Given the description of an element on the screen output the (x, y) to click on. 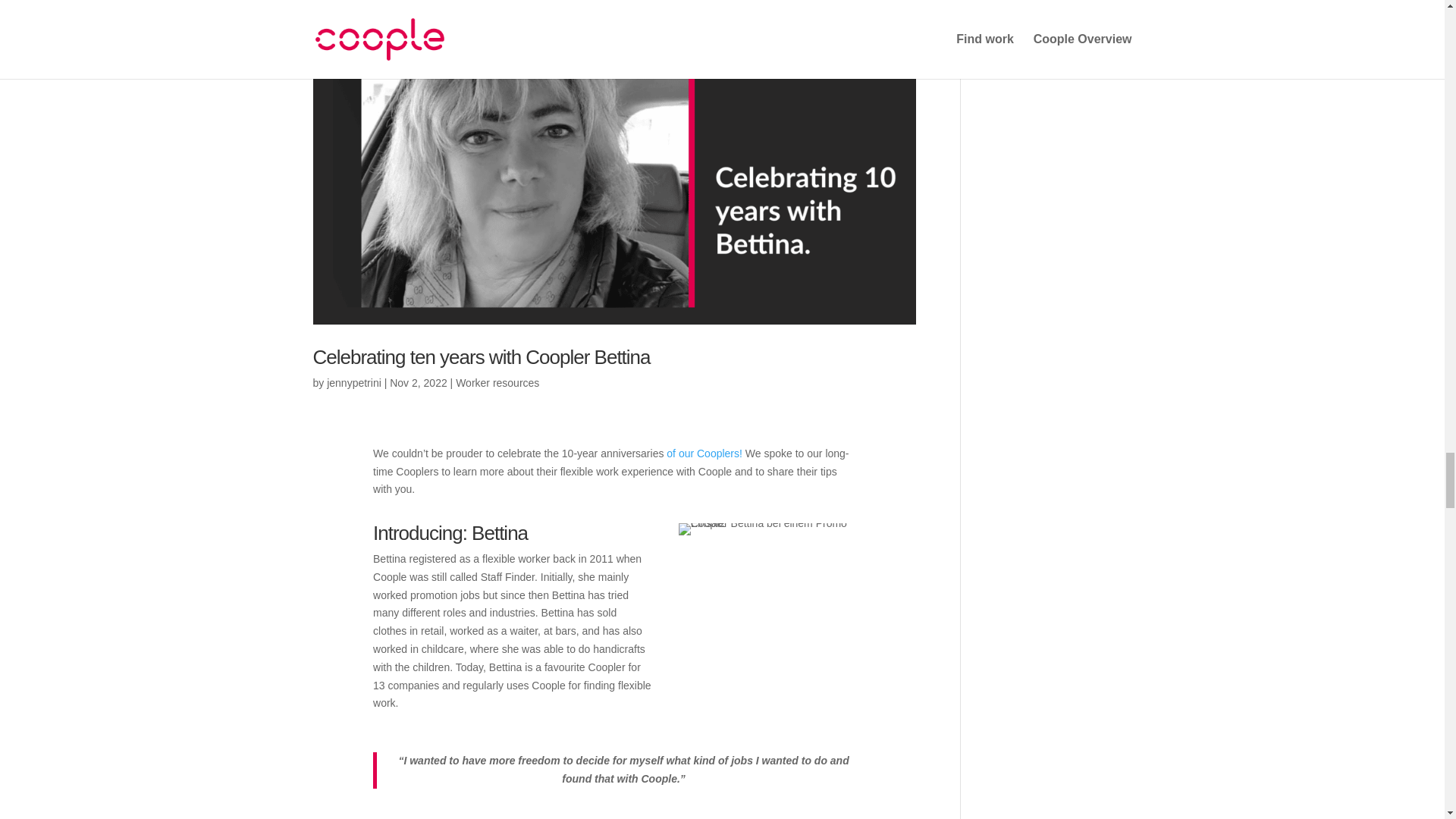
jennypetrini (353, 382)
of our Cooplers! (704, 453)
Posts by jennypetrini (353, 382)
Coopler Bettina (767, 529)
Worker resources (496, 382)
Celebrating ten years with Coopler Bettina (481, 356)
